Given the description of an element on the screen output the (x, y) to click on. 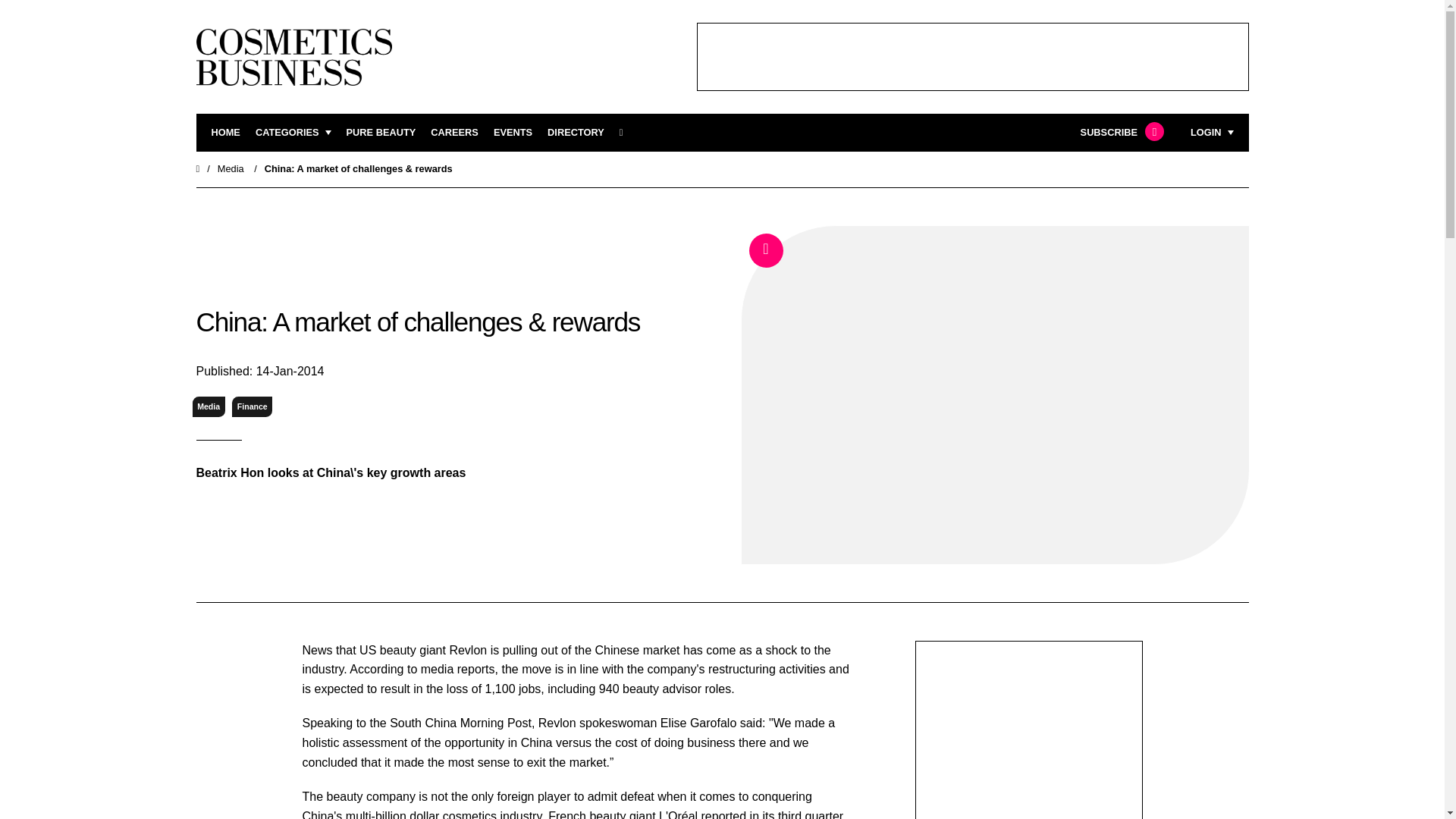
SUBSCRIBE (1120, 133)
CAREERS (454, 133)
Directory (575, 133)
DIRECTORY (575, 133)
Pure Beauty (381, 133)
Media (230, 168)
Sign In (1134, 321)
HOME (225, 133)
CATEGORIES (293, 133)
Media (208, 406)
PURE BEAUTY (381, 133)
SEARCH (626, 133)
EVENTS (512, 133)
Home (197, 168)
LOGIN (1212, 133)
